Given the description of an element on the screen output the (x, y) to click on. 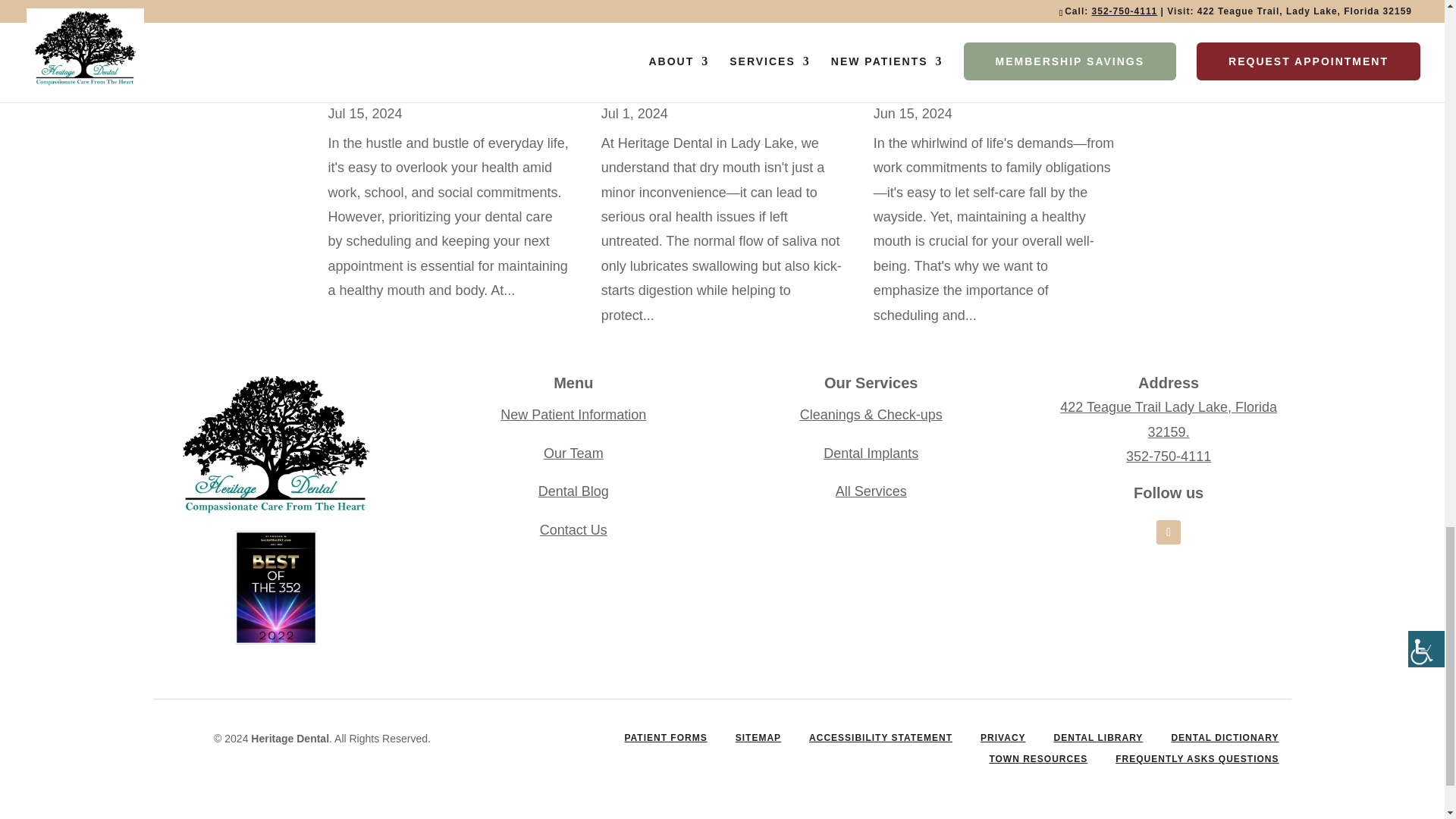
heritagedentaloffice logo new (275, 443)
Follow on Facebook (1168, 532)
